Given the description of an element on the screen output the (x, y) to click on. 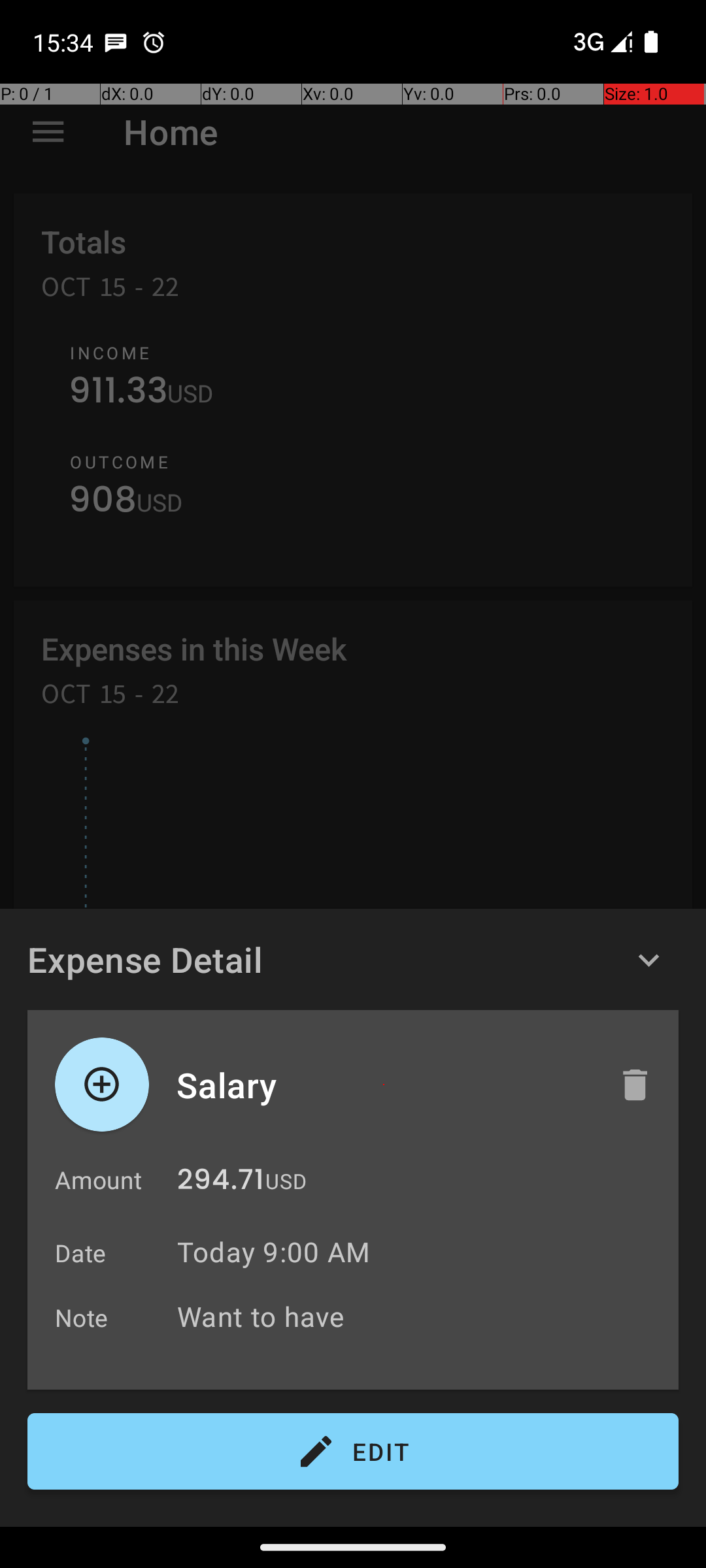
Salary Element type: android.widget.TextView (383, 1084)
294.71 Element type: android.widget.TextView (220, 1182)
